Given the description of an element on the screen output the (x, y) to click on. 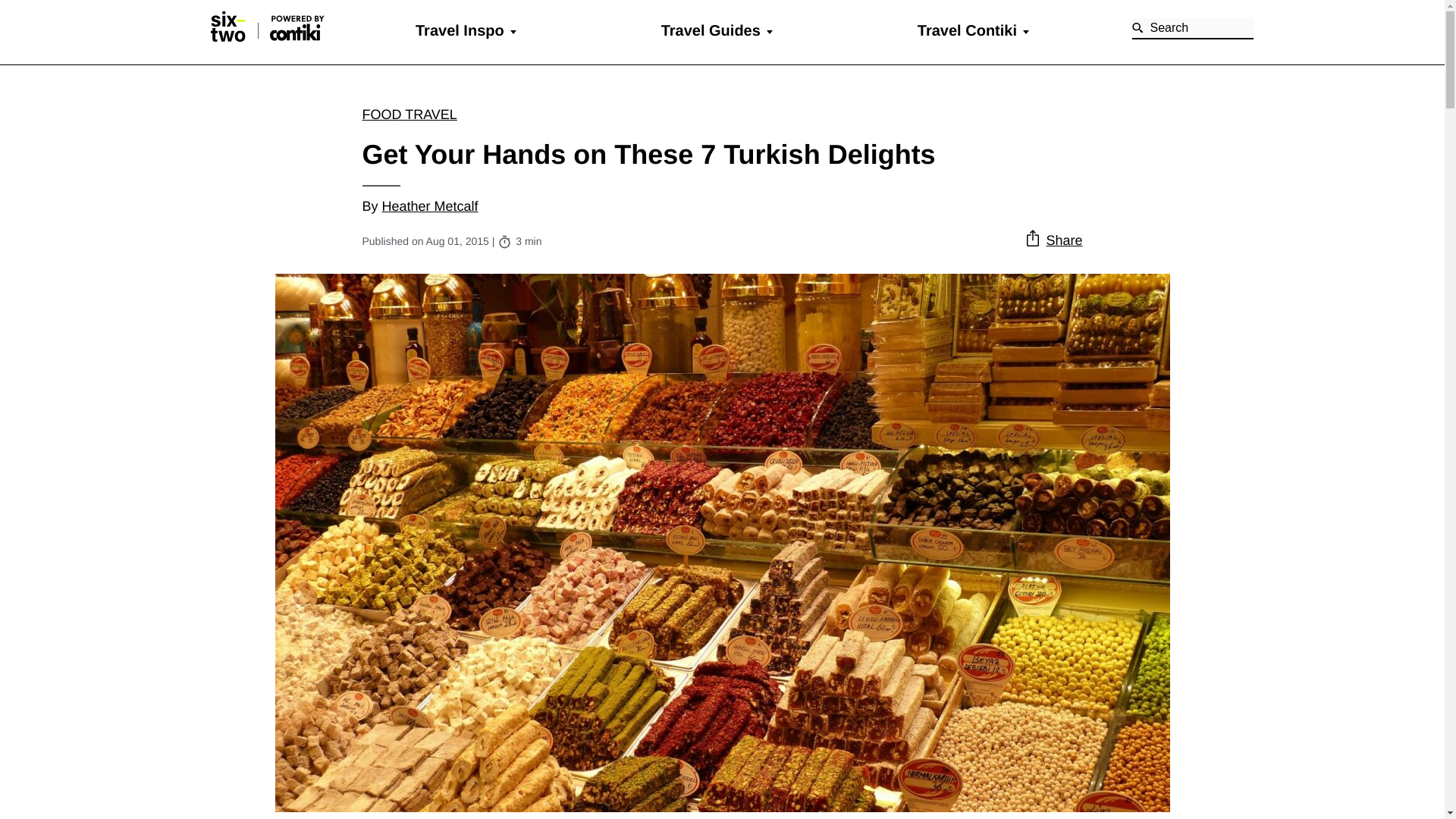
Travel Inspo (458, 30)
Travel Contiki (966, 30)
Travel Guides (710, 30)
